Given the description of an element on the screen output the (x, y) to click on. 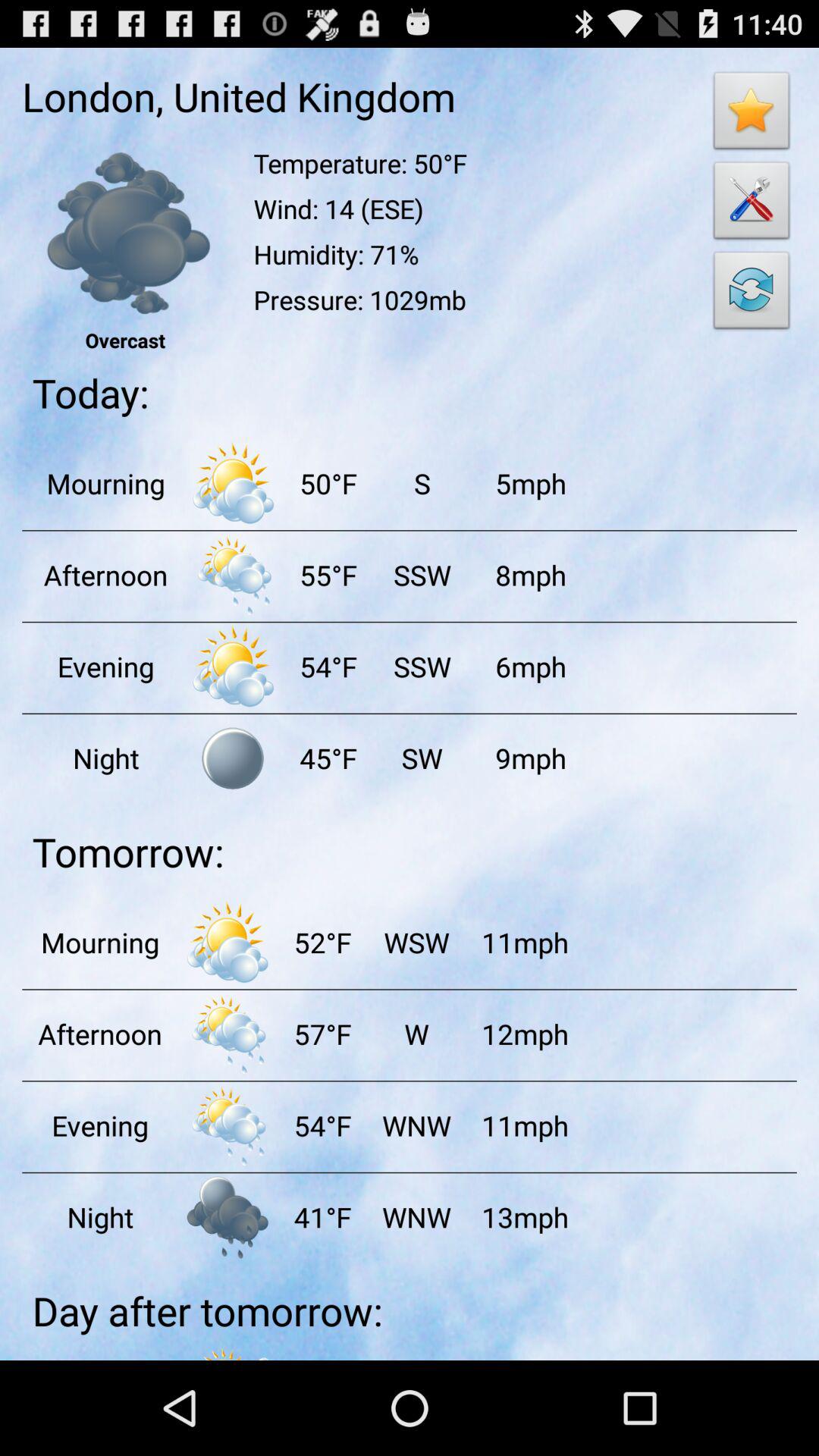
tap app to the left of the 5mph app (421, 483)
